Given the description of an element on the screen output the (x, y) to click on. 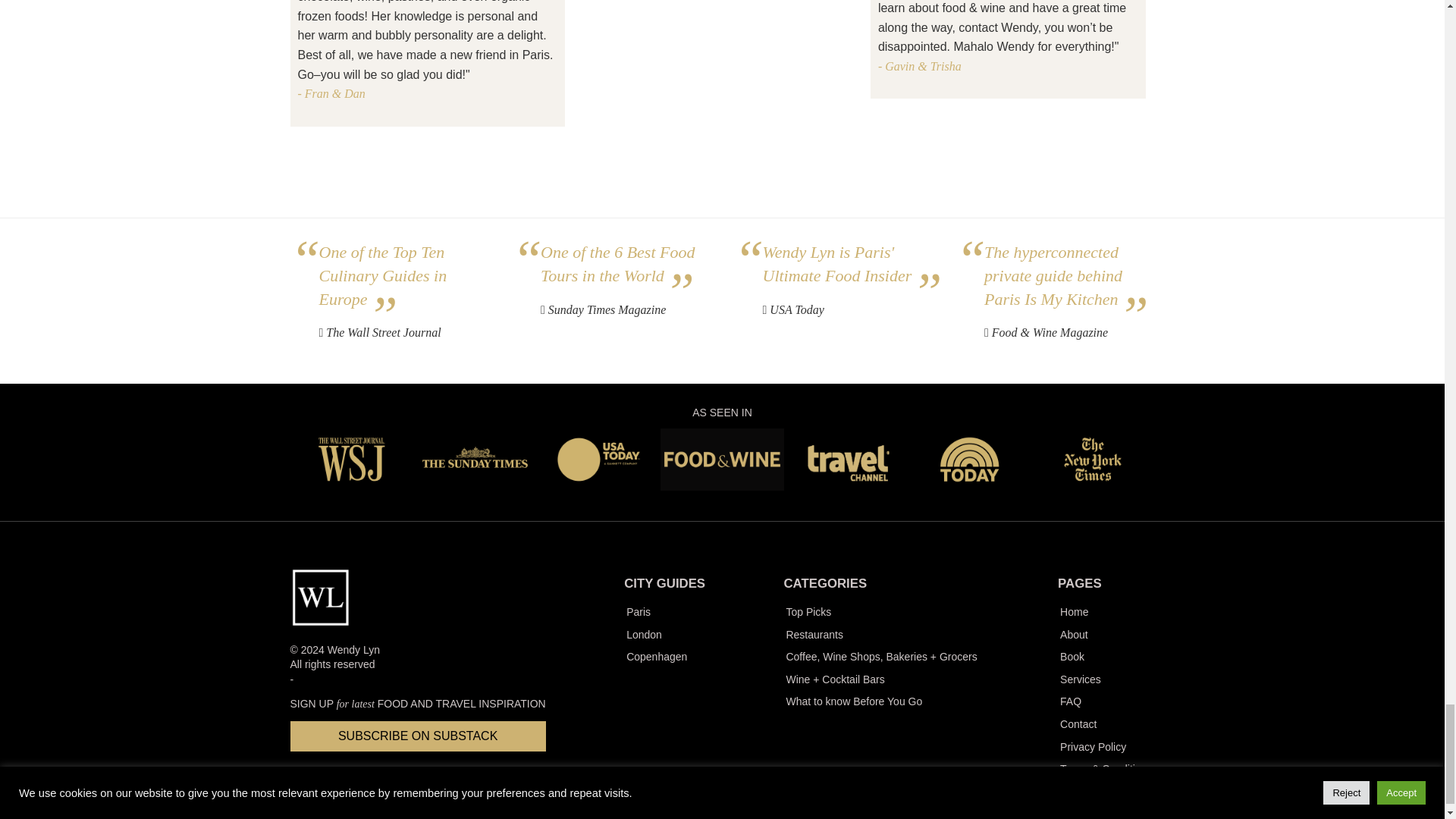
Top Picks (880, 612)
SUBSCRIBE ON SUBSTACK (416, 736)
London (664, 635)
Copenhagen (664, 657)
Restaurants (880, 635)
Paris (664, 612)
